Given the description of an element on the screen output the (x, y) to click on. 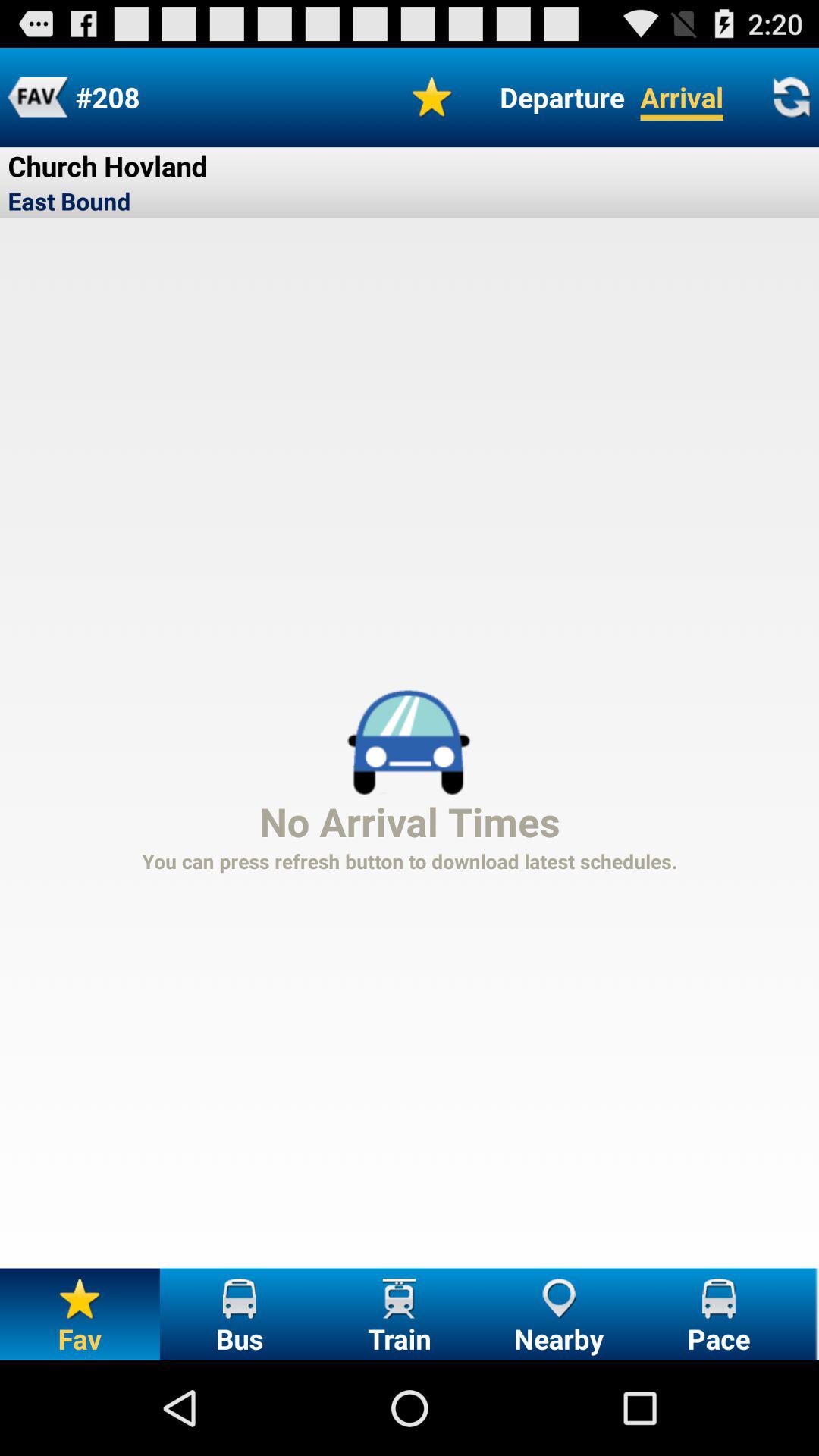
launch the icon to the left of the #208 icon (37, 97)
